Given the description of an element on the screen output the (x, y) to click on. 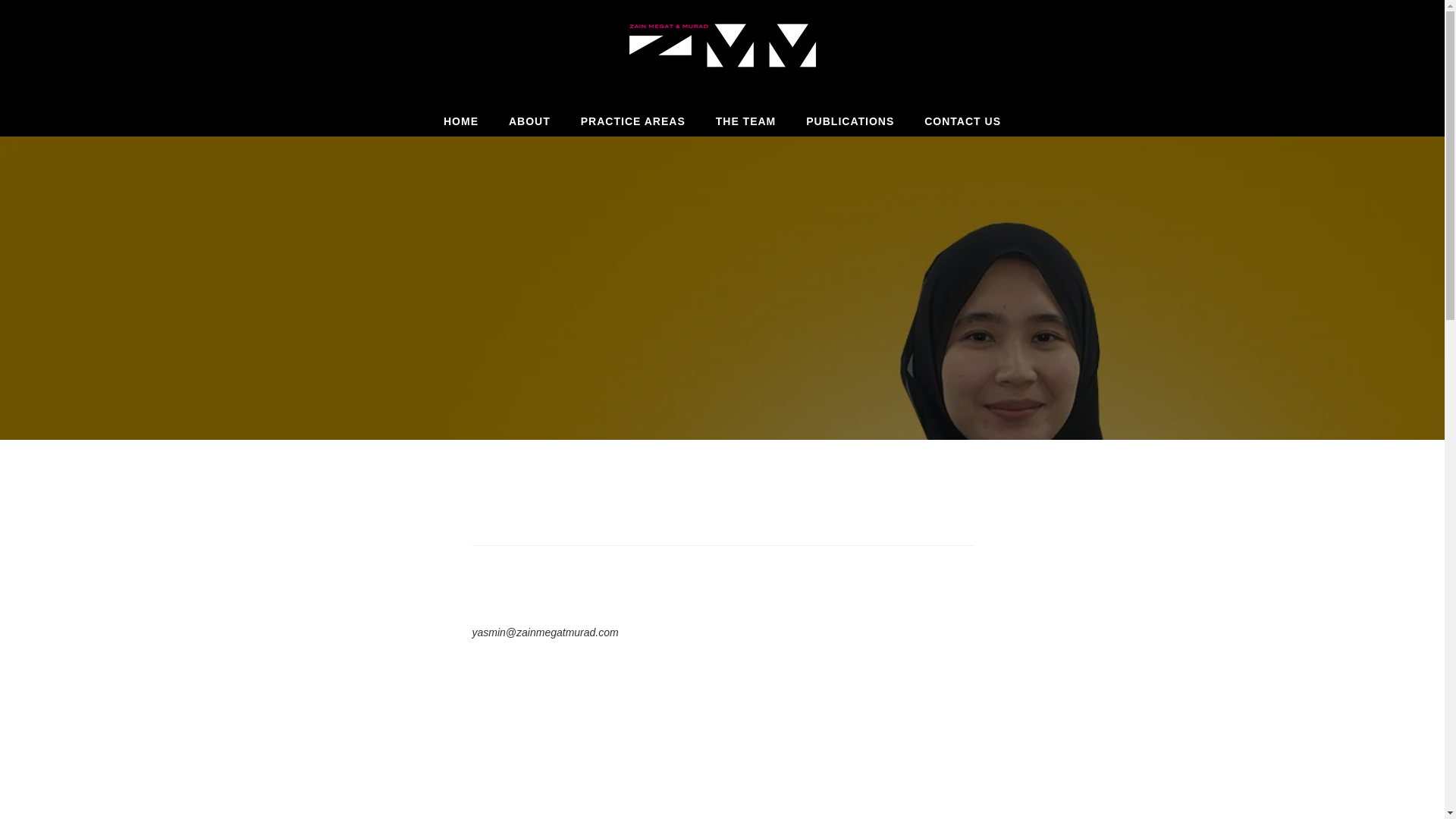
PRACTICE AREAS (633, 121)
ABOUT (529, 121)
CONTACT US (962, 121)
Page 1 (722, 754)
PUBLICATIONS (849, 121)
HOME (460, 121)
Page 1 (722, 615)
THE TEAM (746, 121)
